Given the description of an element on the screen output the (x, y) to click on. 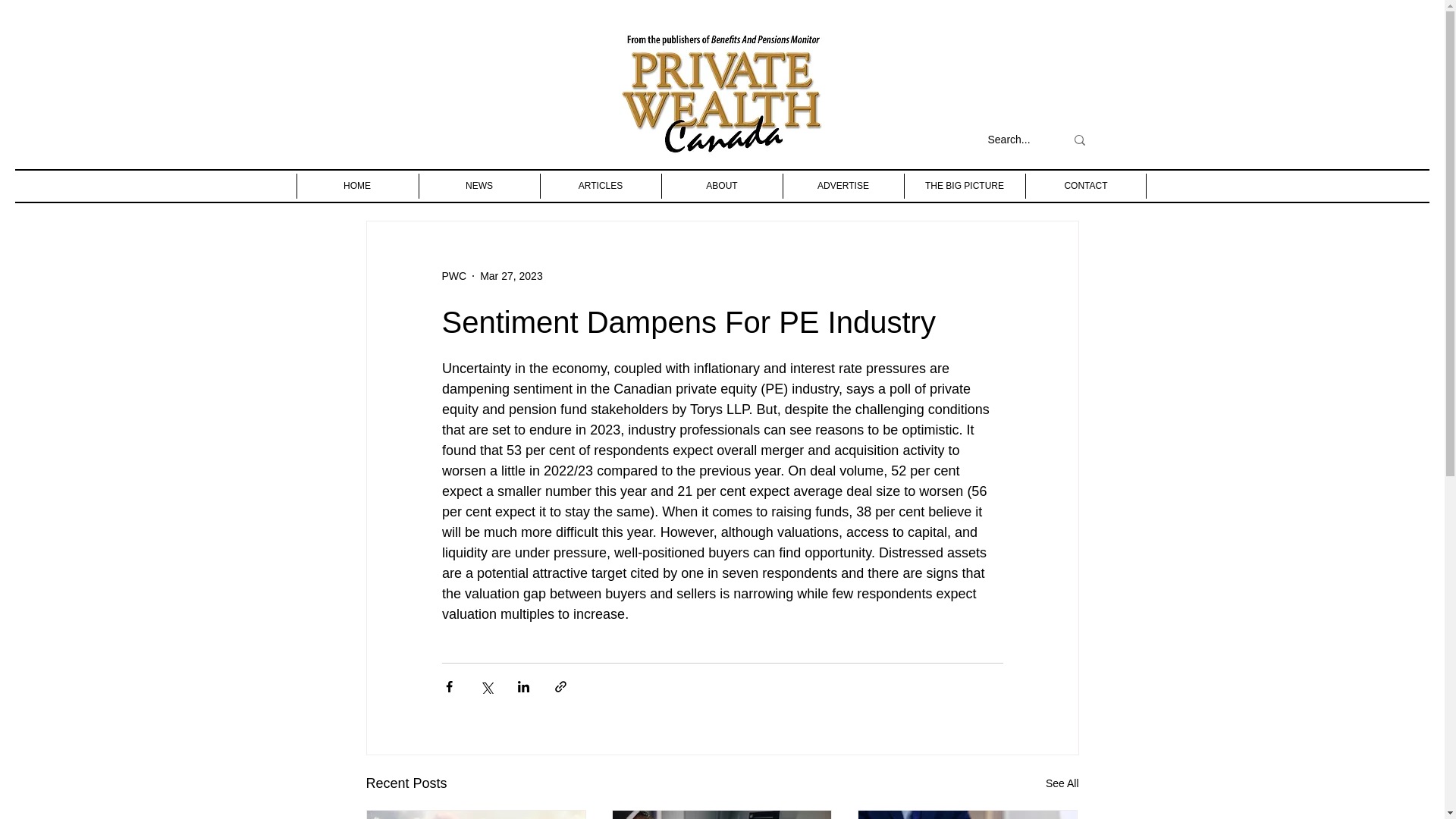
See All (1061, 783)
ABOUT (721, 186)
THE BIG PICTURE (964, 186)
HOME (356, 186)
Mar 27, 2023 (511, 275)
PWC (453, 276)
ADVERTISE (842, 186)
NEWS (478, 186)
CONTACT (1085, 186)
ARTICLES (600, 186)
